Given the description of an element on the screen output the (x, y) to click on. 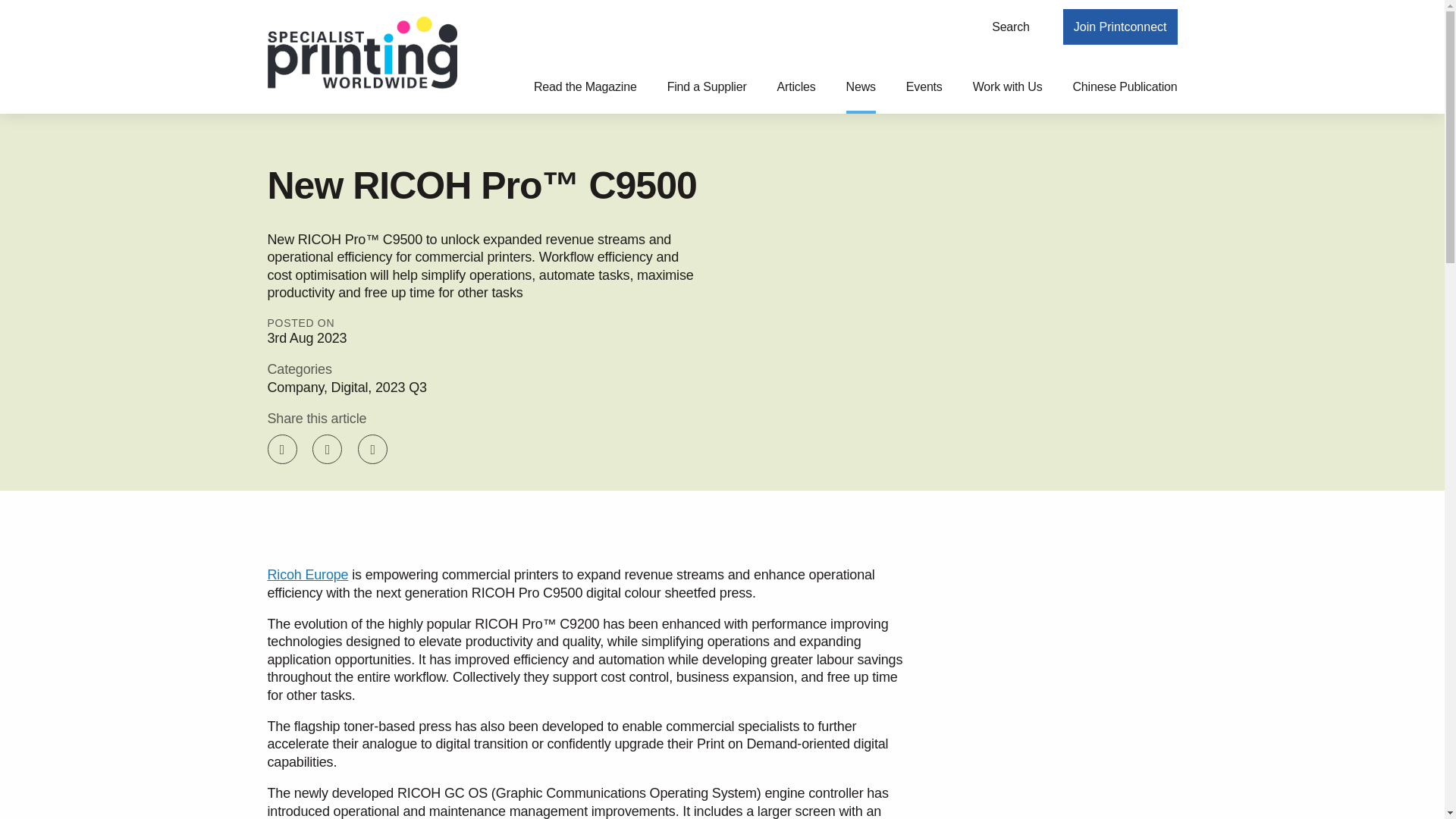
Ricoh Europe (306, 574)
Events (923, 96)
Read the Magazine (585, 96)
Work with Us (1007, 96)
Chinese Publication (1123, 96)
Chinese Publication (1123, 96)
Articles (796, 96)
Events (923, 96)
Find a Supplier (706, 96)
Work with Us (1007, 96)
Search (1011, 27)
Join Printconnect (1119, 27)
Find a Supplier (706, 96)
Read the Magazine (585, 96)
Articles (796, 96)
